Given the description of an element on the screen output the (x, y) to click on. 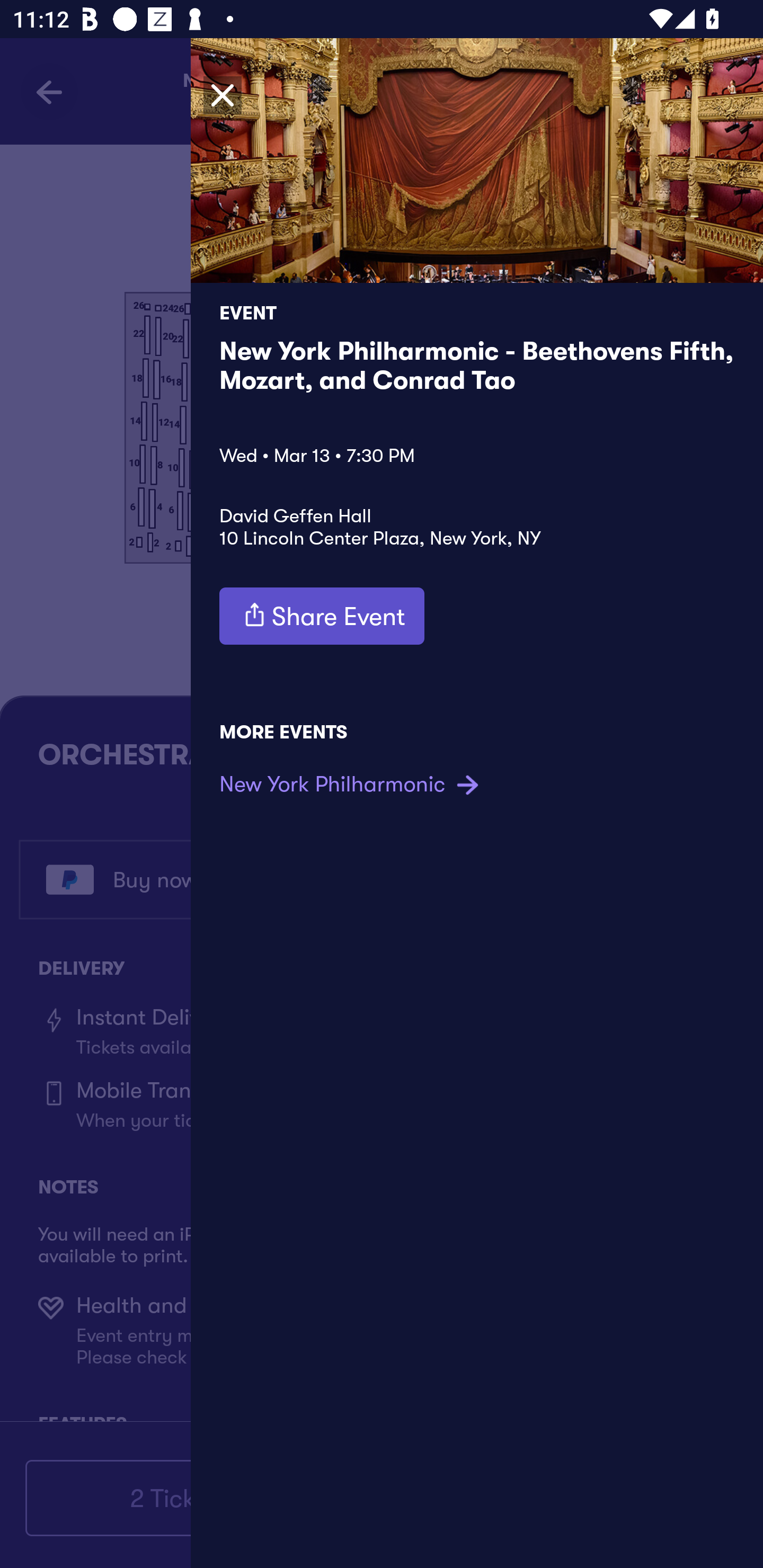
Share Event (321, 616)
New York Philharmonic (351, 783)
